Given the description of an element on the screen output the (x, y) to click on. 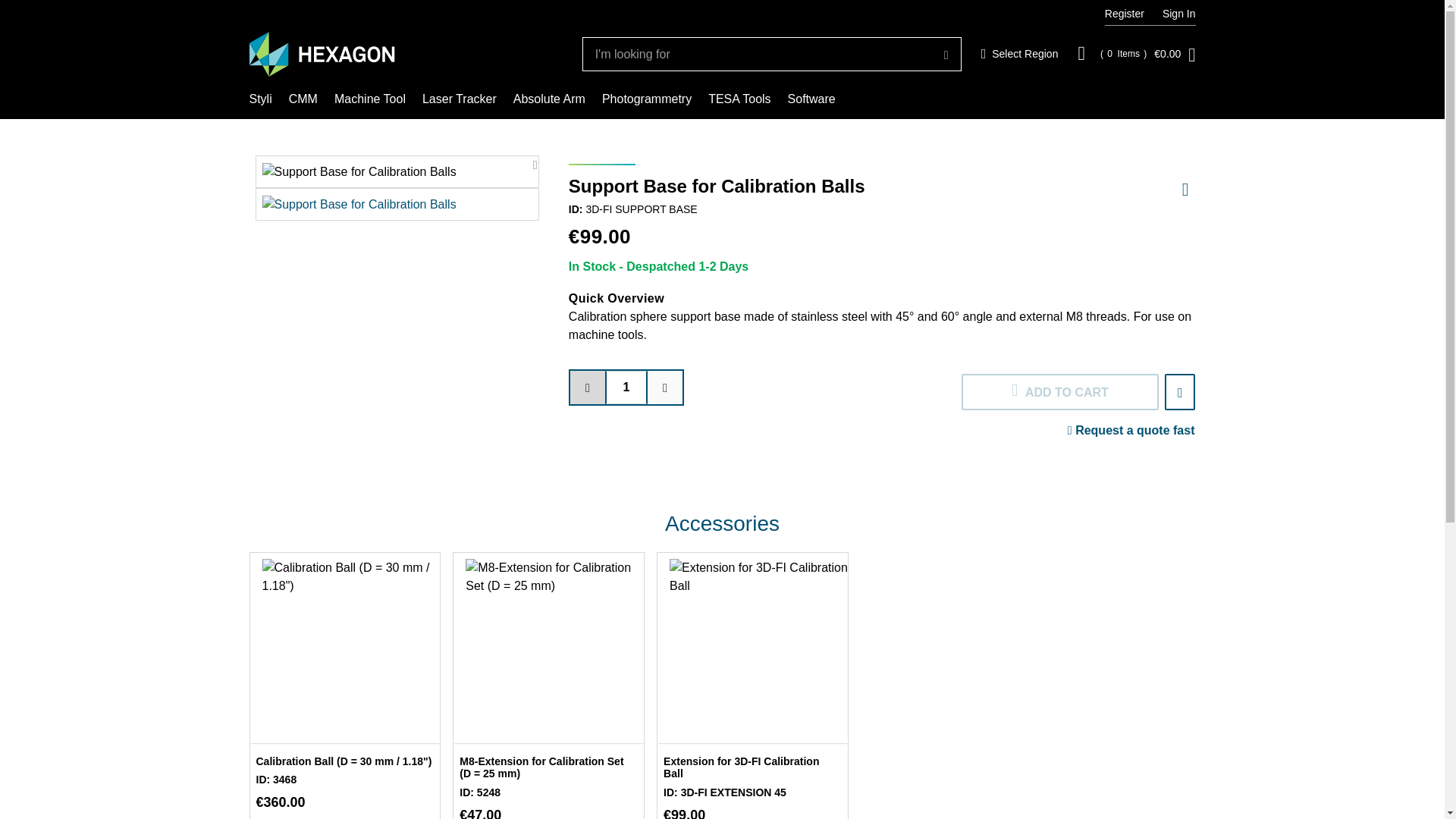
Sign In (1178, 14)
Styli (259, 98)
Register (1124, 14)
Hexagon Logo (321, 53)
1 (626, 387)
Register (1019, 54)
